Given the description of an element on the screen output the (x, y) to click on. 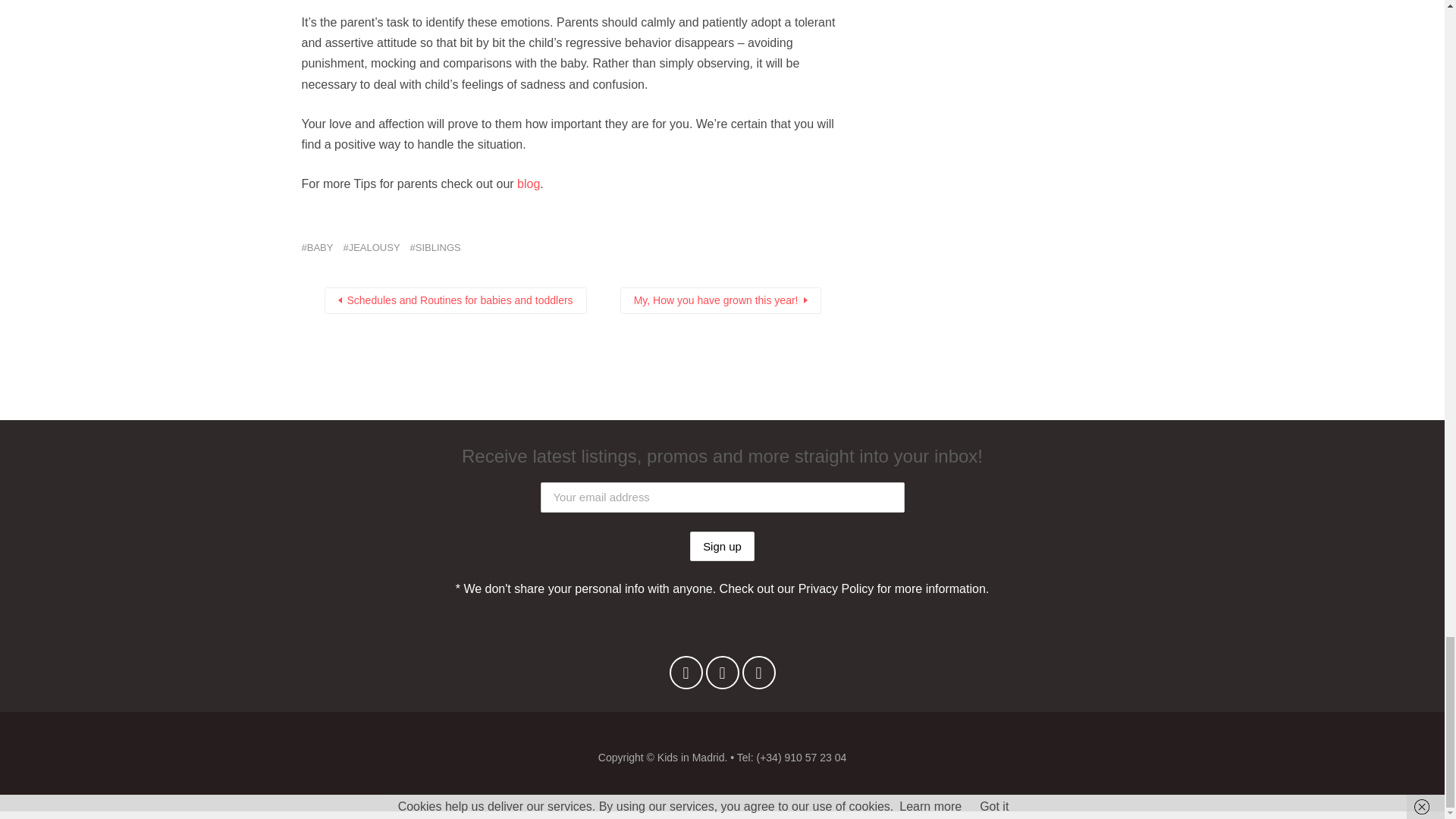
blog (528, 183)
JEALOUSY (370, 247)
Sign up (722, 546)
BABY (317, 247)
SIBLINGS (435, 247)
